Given the description of an element on the screen output the (x, y) to click on. 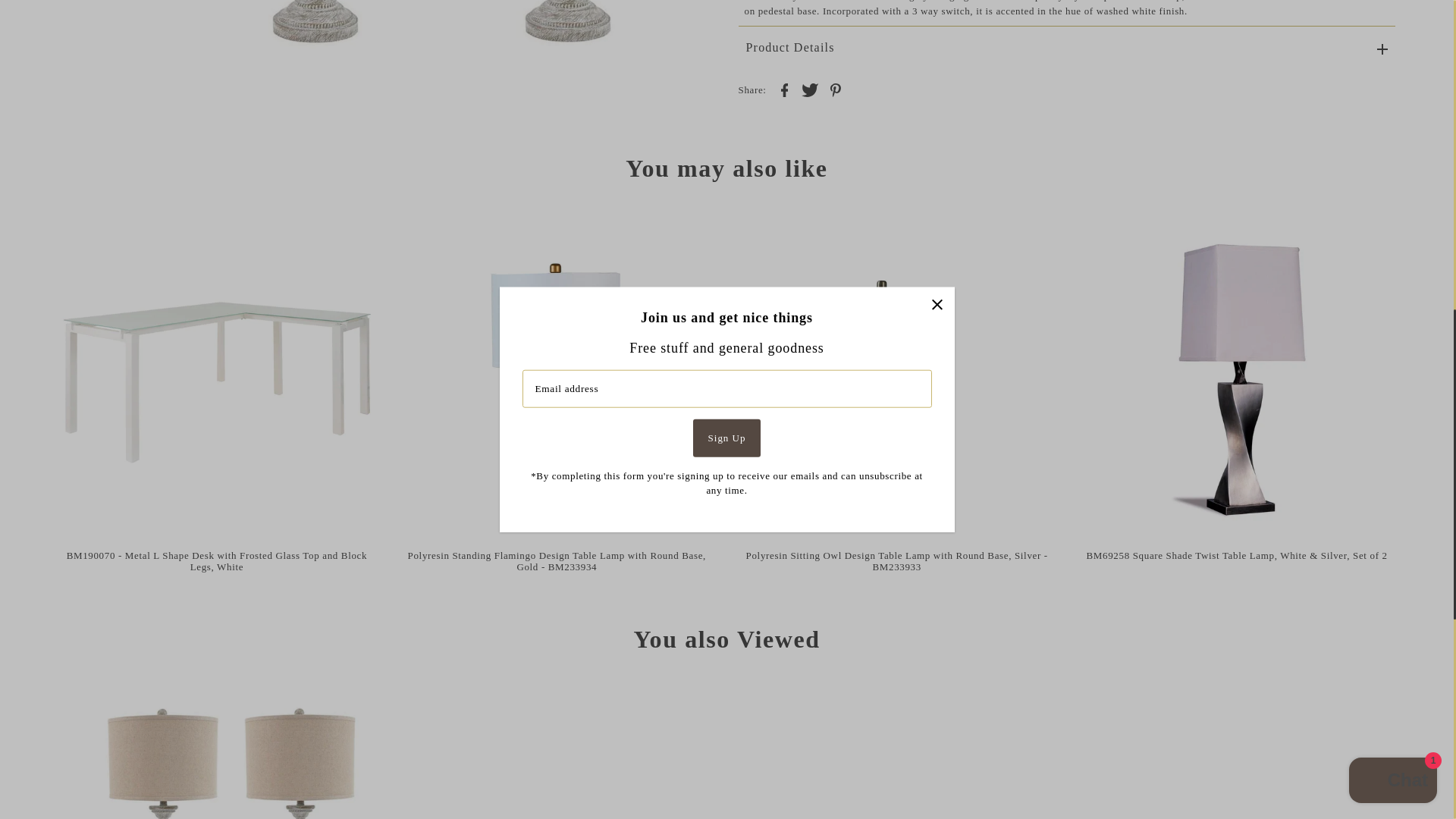
Share on Facebook (784, 88)
Share on Twitter (809, 88)
Share on Pinterest (835, 88)
